Given the description of an element on the screen output the (x, y) to click on. 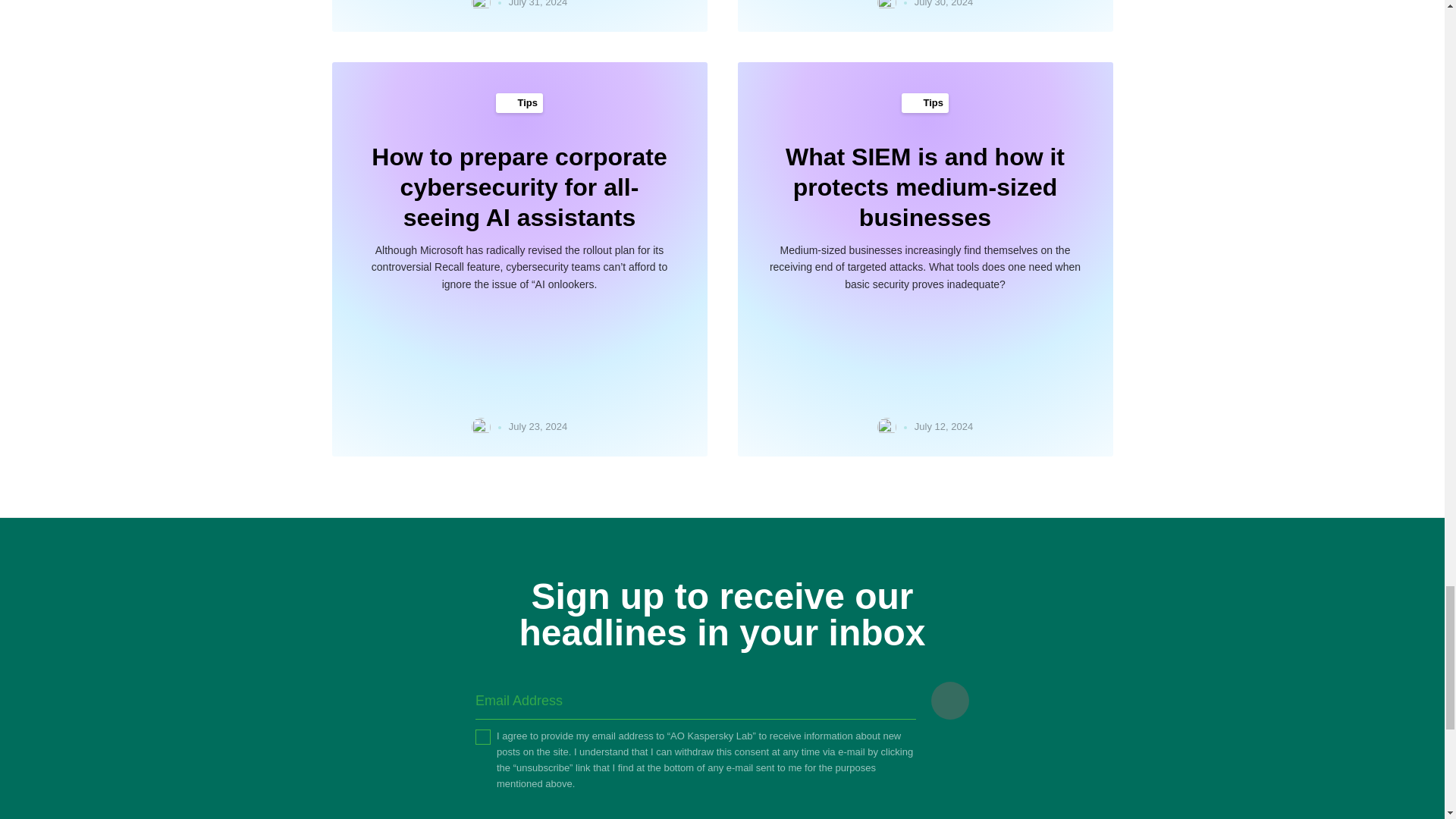
Sign me Up (950, 700)
